Given the description of an element on the screen output the (x, y) to click on. 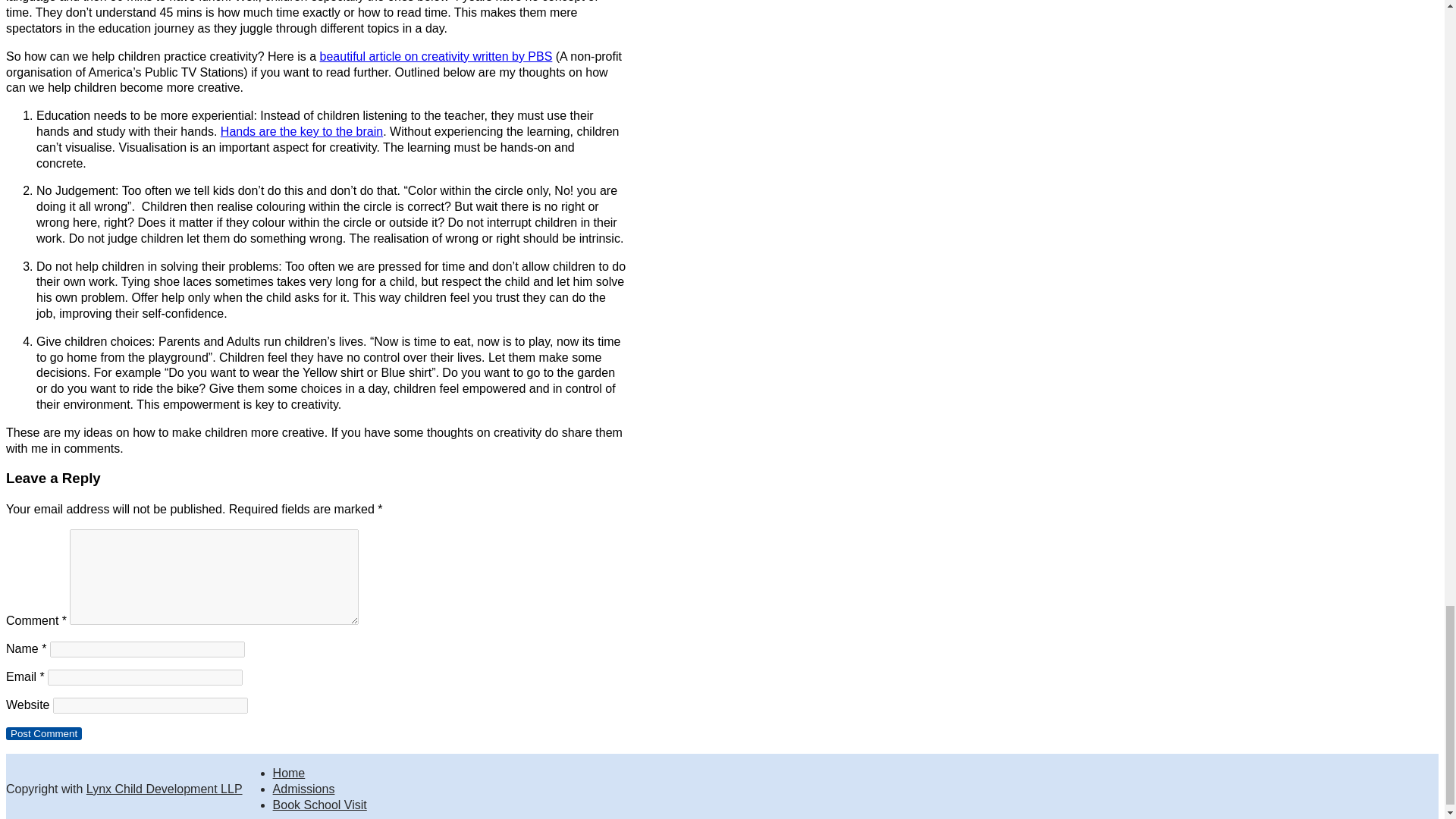
beautiful article on creativity written by PBS (436, 56)
Post Comment (43, 733)
